Given the description of an element on the screen output the (x, y) to click on. 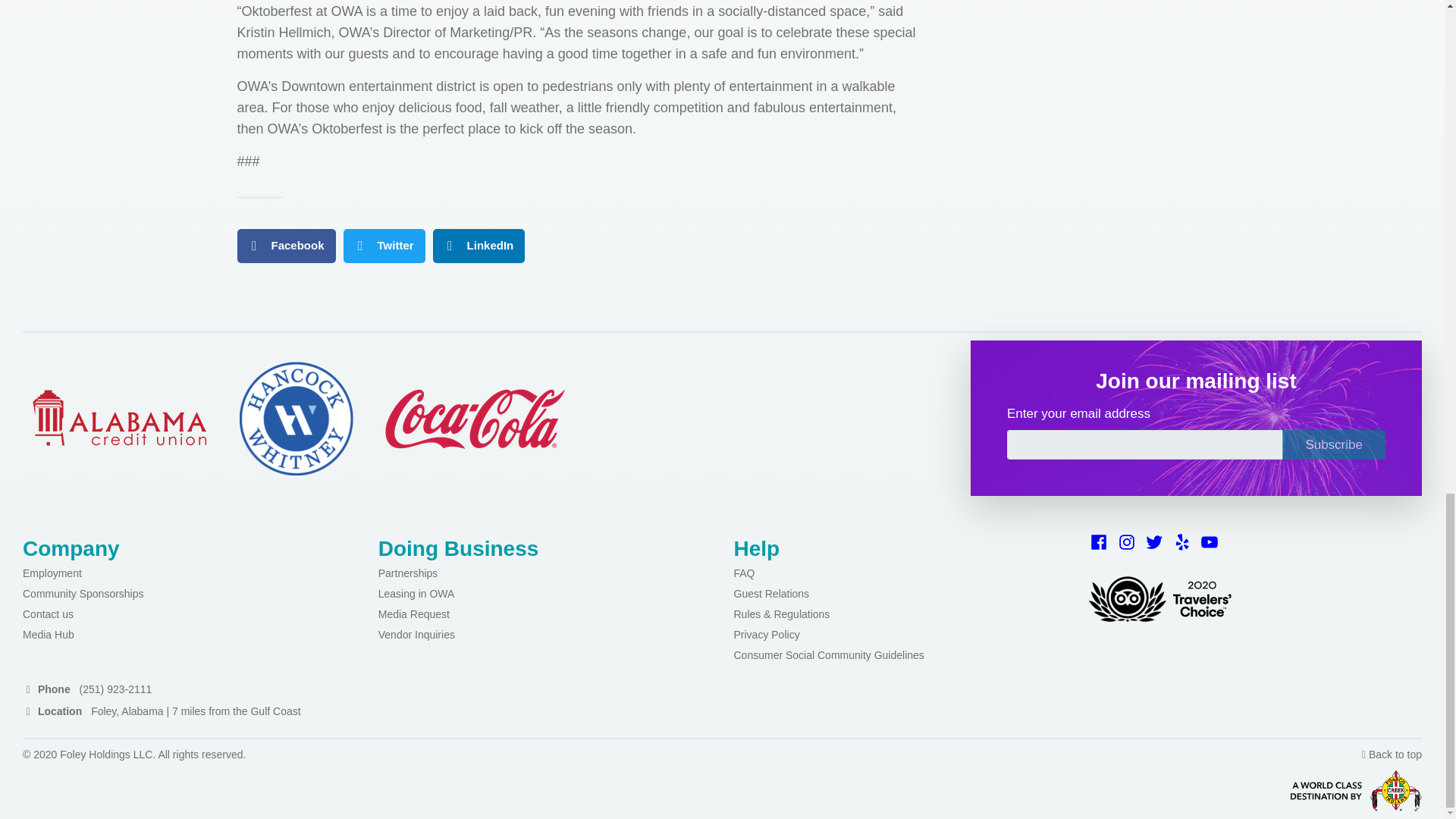
Community Sponsorships (83, 593)
Subscribe (1334, 444)
Employment (52, 573)
